Given the description of an element on the screen output the (x, y) to click on. 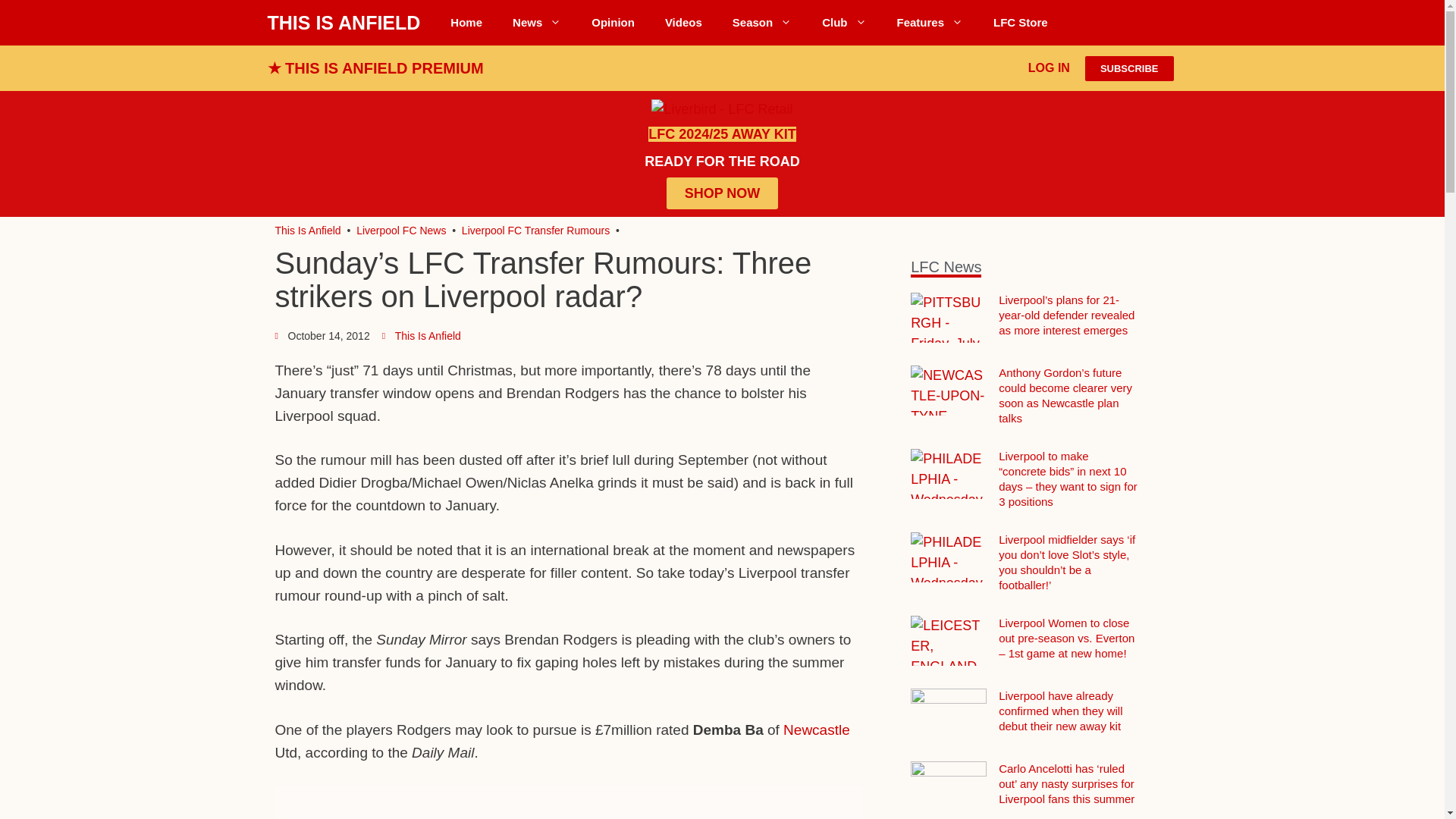
Videos (683, 22)
Home (466, 22)
Features (929, 22)
Liverpool FC News (536, 22)
Go to the Liverpool FC News category archives. (400, 230)
Liverpool FC Opinion (612, 22)
Opinion (612, 22)
Liverpool FC (307, 230)
News (536, 22)
Club (843, 22)
